Given the description of an element on the screen output the (x, y) to click on. 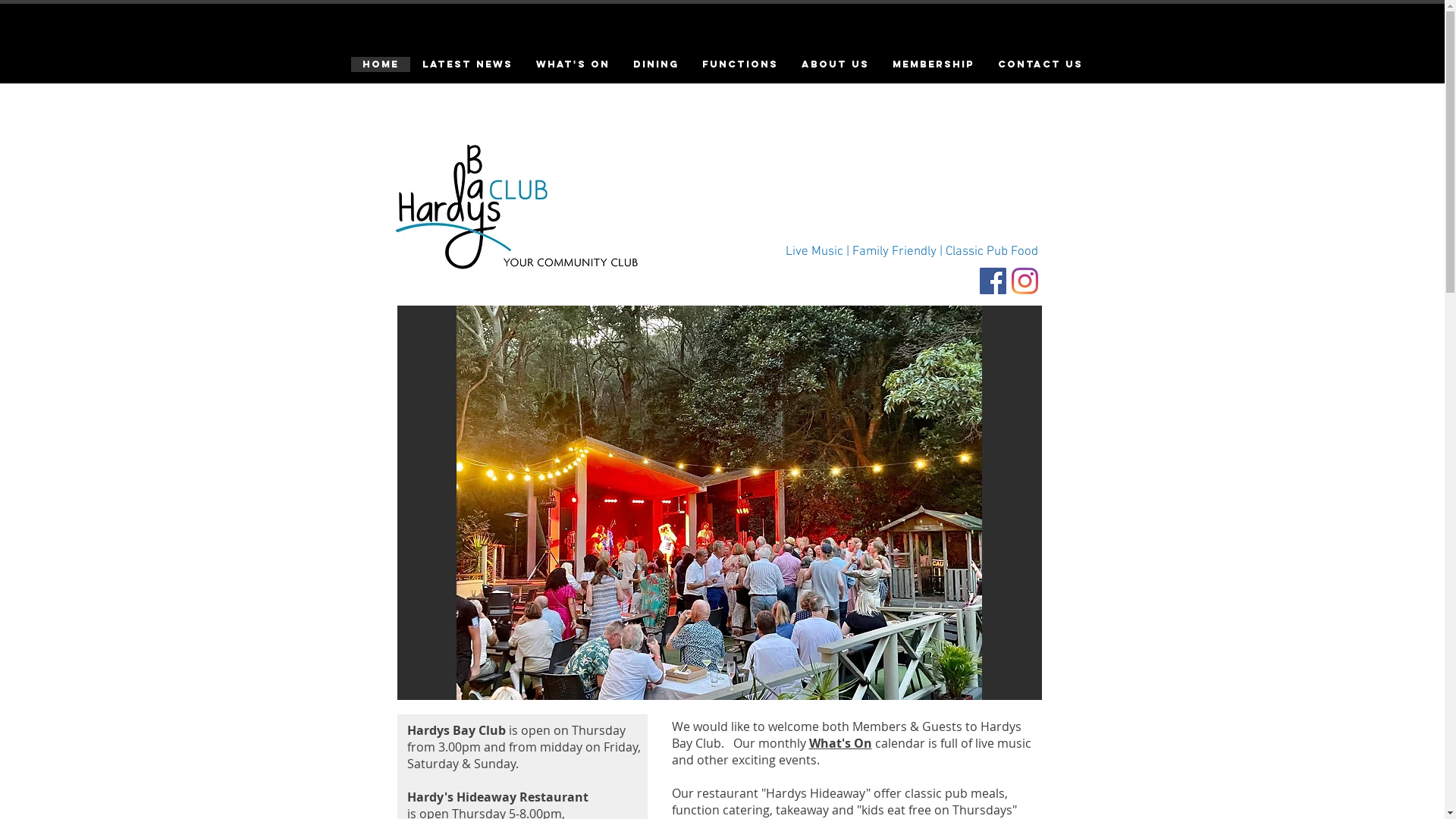
ABOUT US Element type: text (833, 64)
DINING Element type: text (654, 64)
MEMBERSHIP Element type: text (932, 64)
WHAT'S ON Element type: text (571, 64)
CONTACT US Element type: text (1039, 64)
HOME Element type: text (379, 64)
What's On Element type: text (839, 743)
FUNCTIONS Element type: text (739, 64)
LATEST NEWS Element type: text (466, 64)
